Given the description of an element on the screen output the (x, y) to click on. 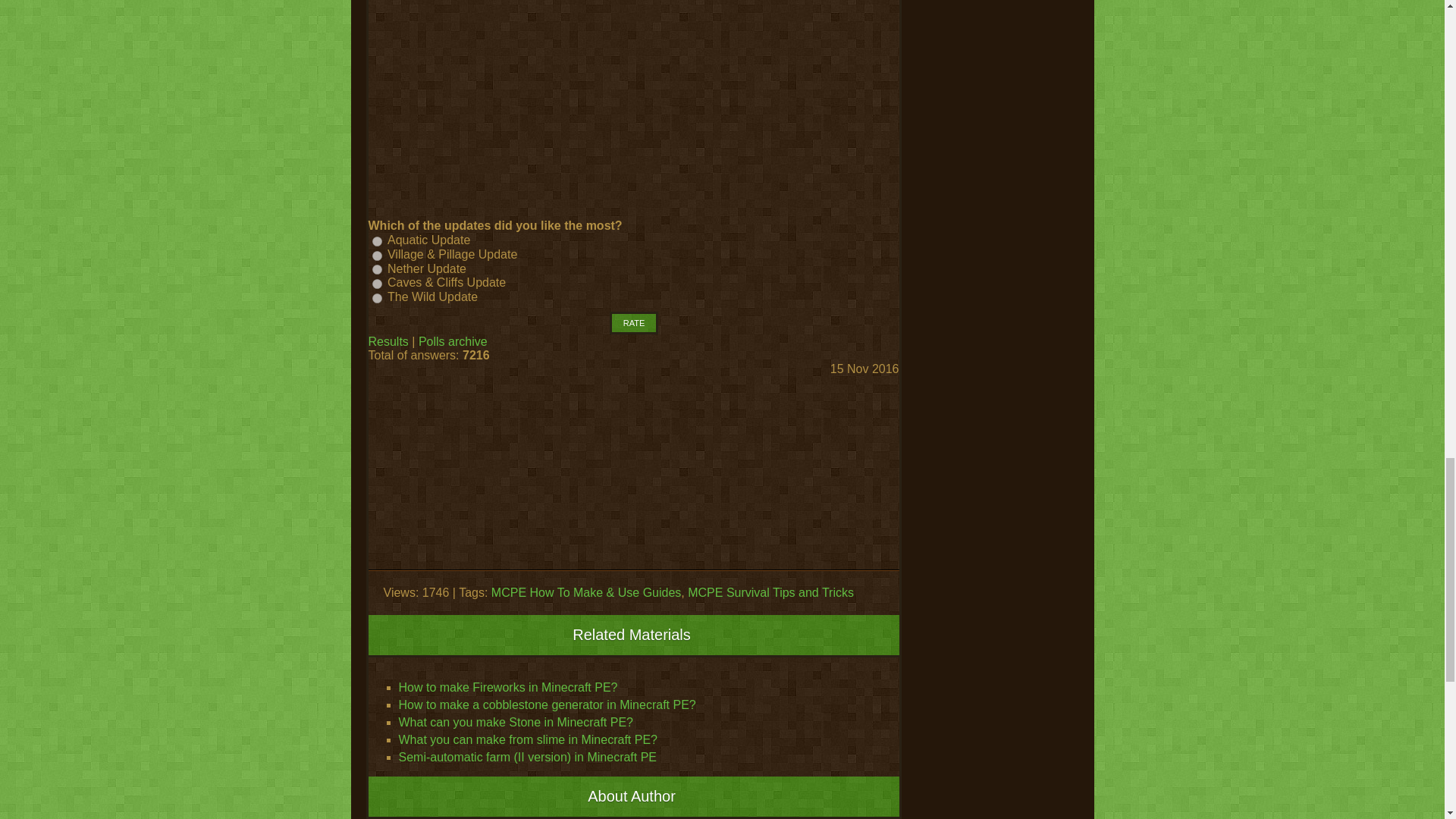
4 (376, 284)
What you can make from slime in Minecraft PE? (528, 739)
What can you make Stone in Minecraft PE? (515, 721)
5 (376, 298)
3 (376, 269)
How to make Fireworks in Minecraft PE? (507, 686)
Rate (634, 323)
1 (376, 241)
2 (376, 255)
How to make a cobblestone generator in Minecraft PE? (546, 704)
